Given the description of an element on the screen output the (x, y) to click on. 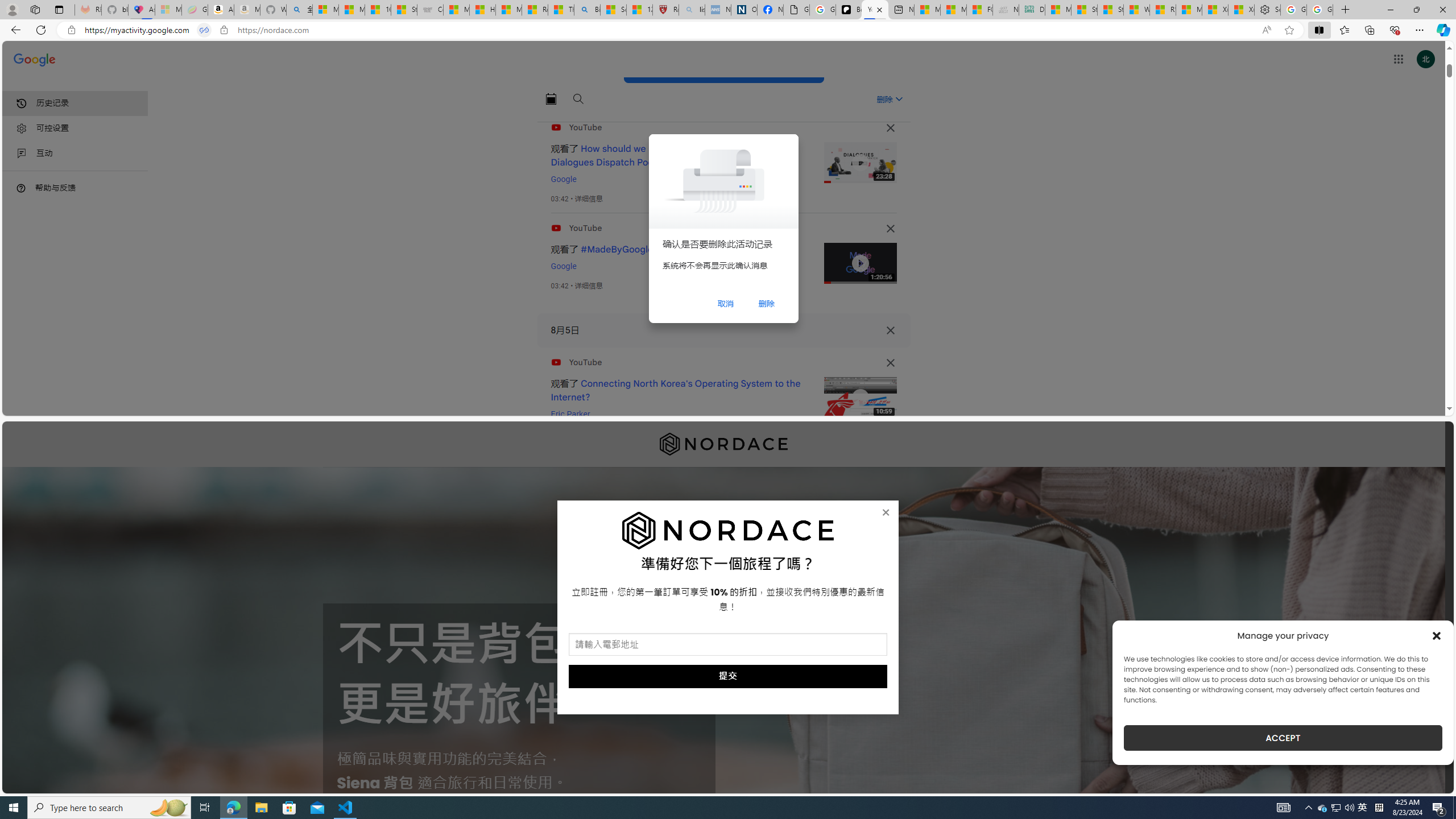
Class: DI7Mnf NMm5M (889, 330)
Eric Parker (569, 414)
